Given the description of an element on the screen output the (x, y) to click on. 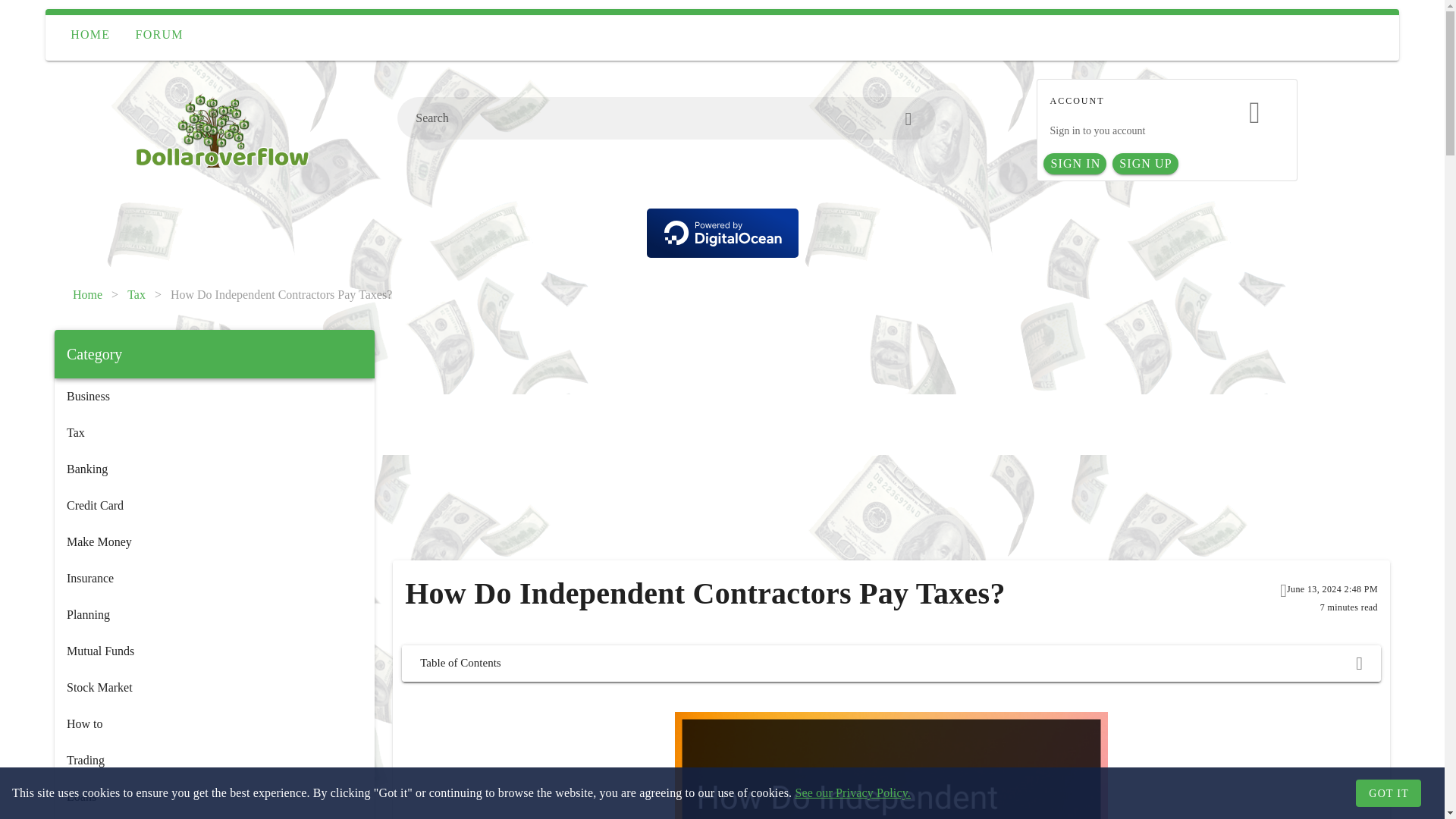
Mutual Funds (214, 651)
How Do Independent Contractors Pay Taxes? (280, 294)
Credit Card (214, 505)
Tax (136, 294)
Real Estate (214, 816)
Stock Market (214, 687)
Home (86, 294)
Planning (214, 615)
Insurance (214, 578)
Tax (214, 432)
How to (214, 723)
SIGN IN (1074, 163)
HOME (90, 34)
Trading (214, 760)
Banking (214, 469)
